Given the description of an element on the screen output the (x, y) to click on. 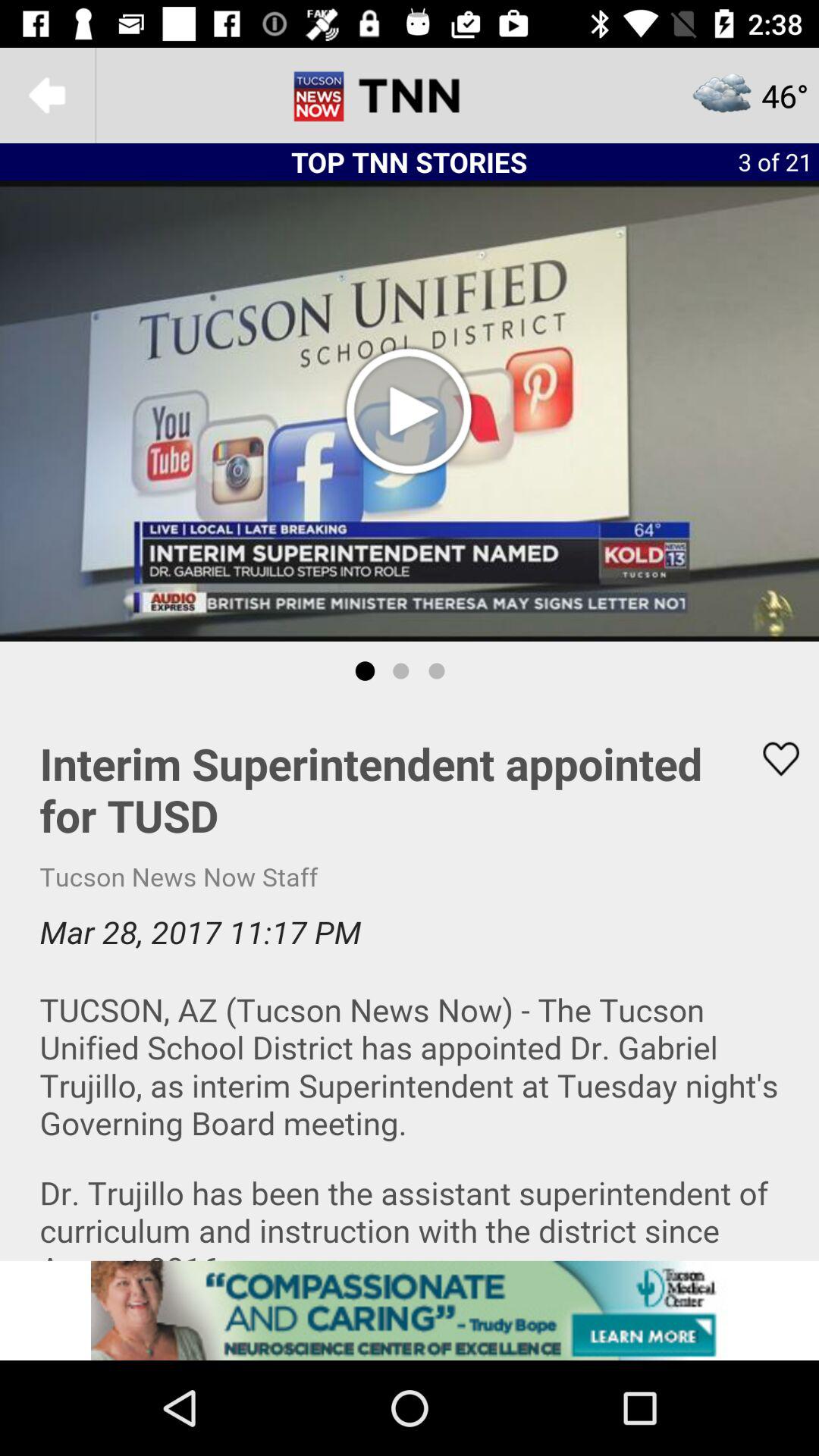
go to like (771, 758)
